Given the description of an element on the screen output the (x, y) to click on. 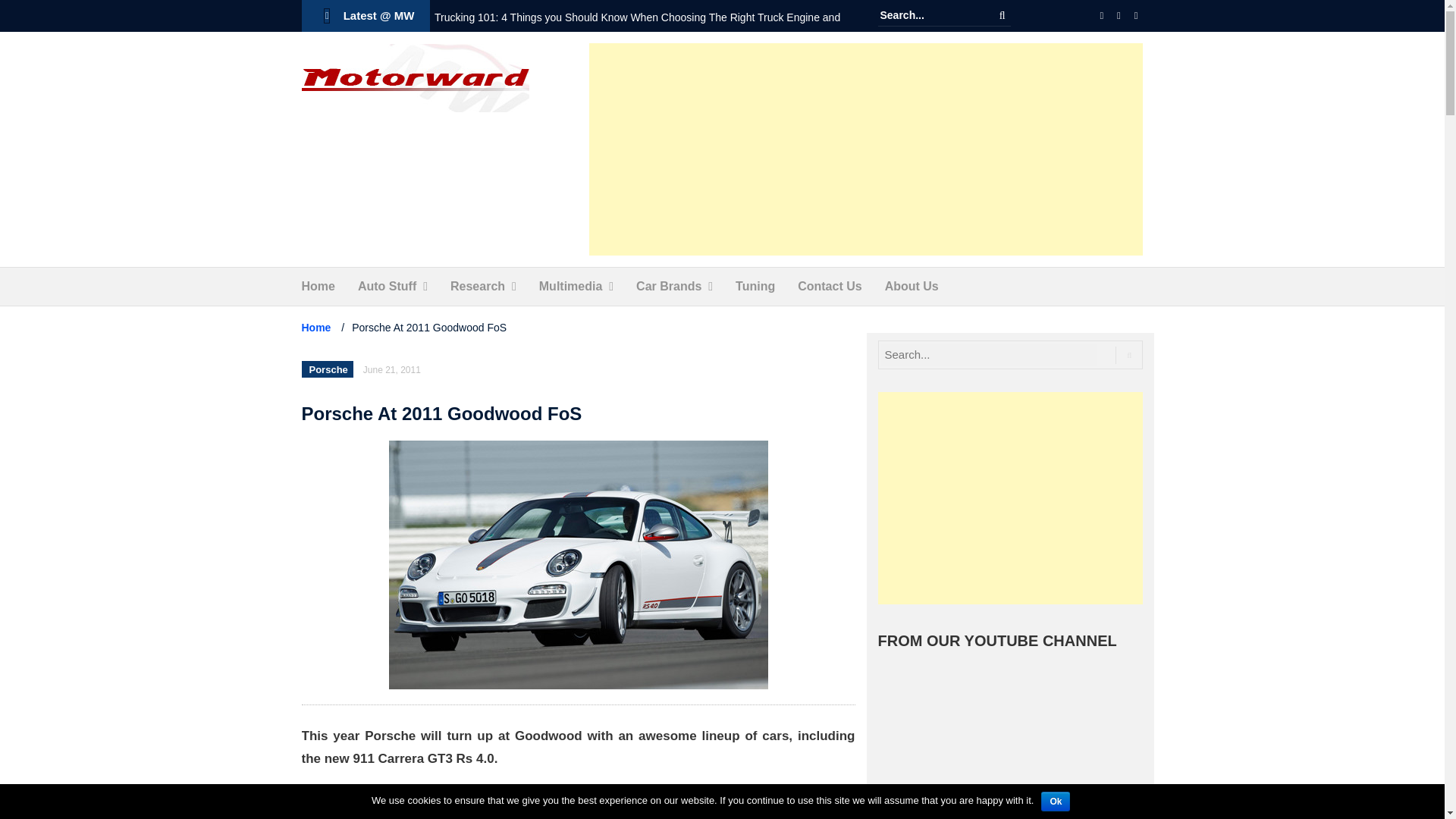
Auto Stuff (387, 286)
Research (477, 286)
Search   (1002, 14)
porsche 2011 goodwood 1 (577, 564)
Advertisement (865, 149)
Home (317, 286)
Advertisement (578, 804)
Advertisement (1009, 498)
